Given the description of an element on the screen output the (x, y) to click on. 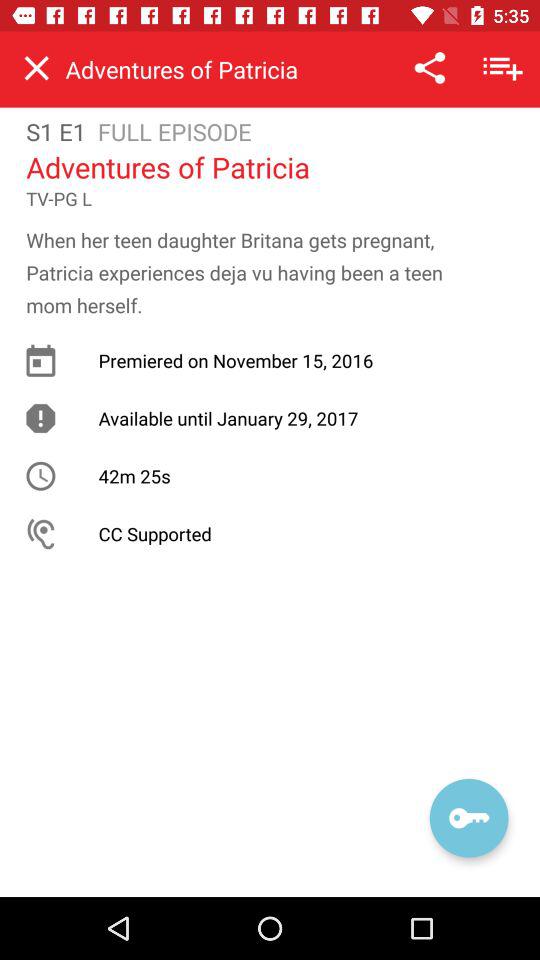
click the key button at bottom right corner (469, 818)
